Given the description of an element on the screen output the (x, y) to click on. 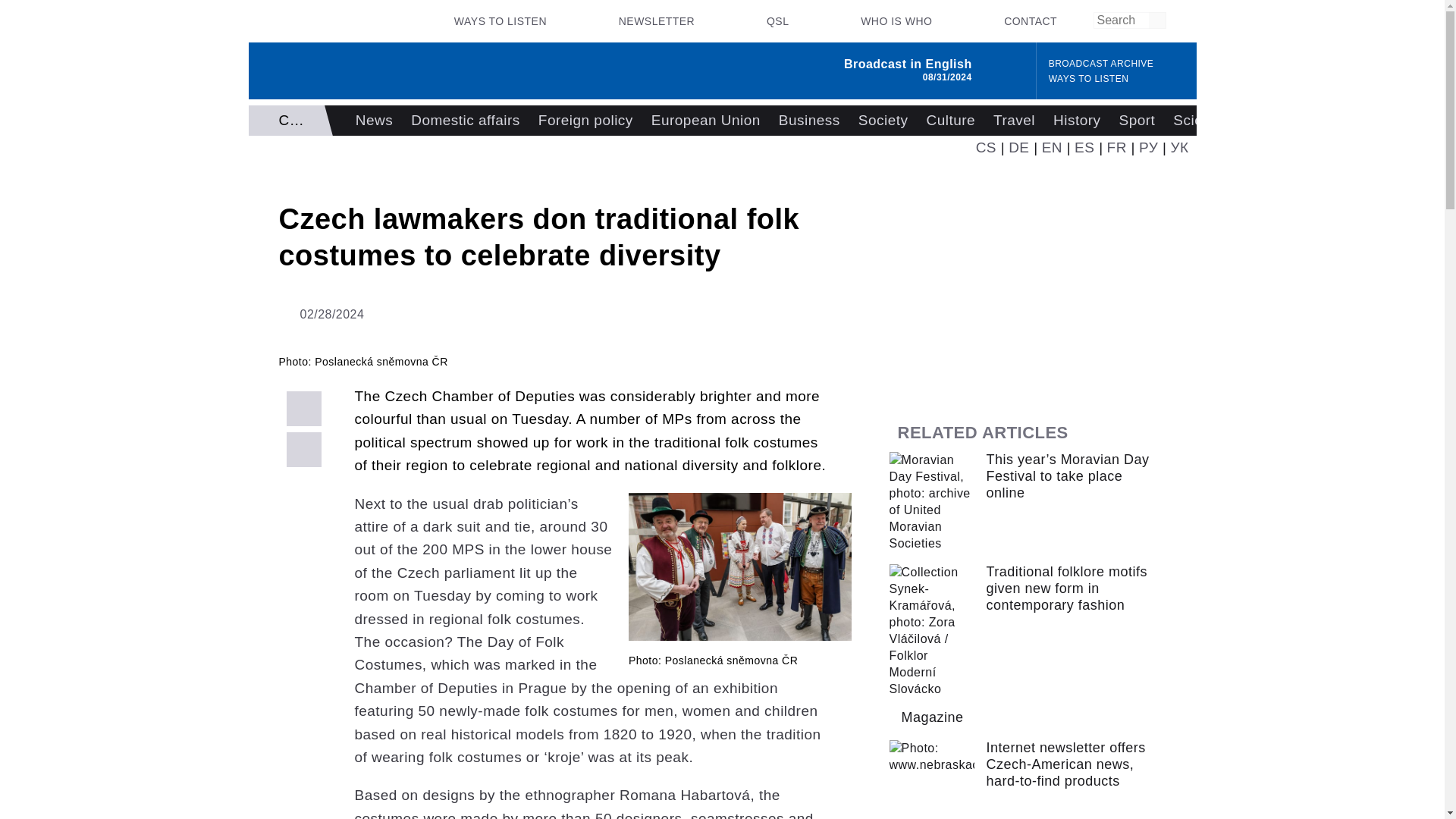
DE (1019, 147)
Domestic affairs (465, 120)
Foreign policy (585, 120)
History (1076, 120)
Culture (950, 120)
Sport (1136, 120)
Society (882, 120)
FR (1116, 147)
News (373, 120)
CONTACT (1029, 21)
